Given the description of an element on the screen output the (x, y) to click on. 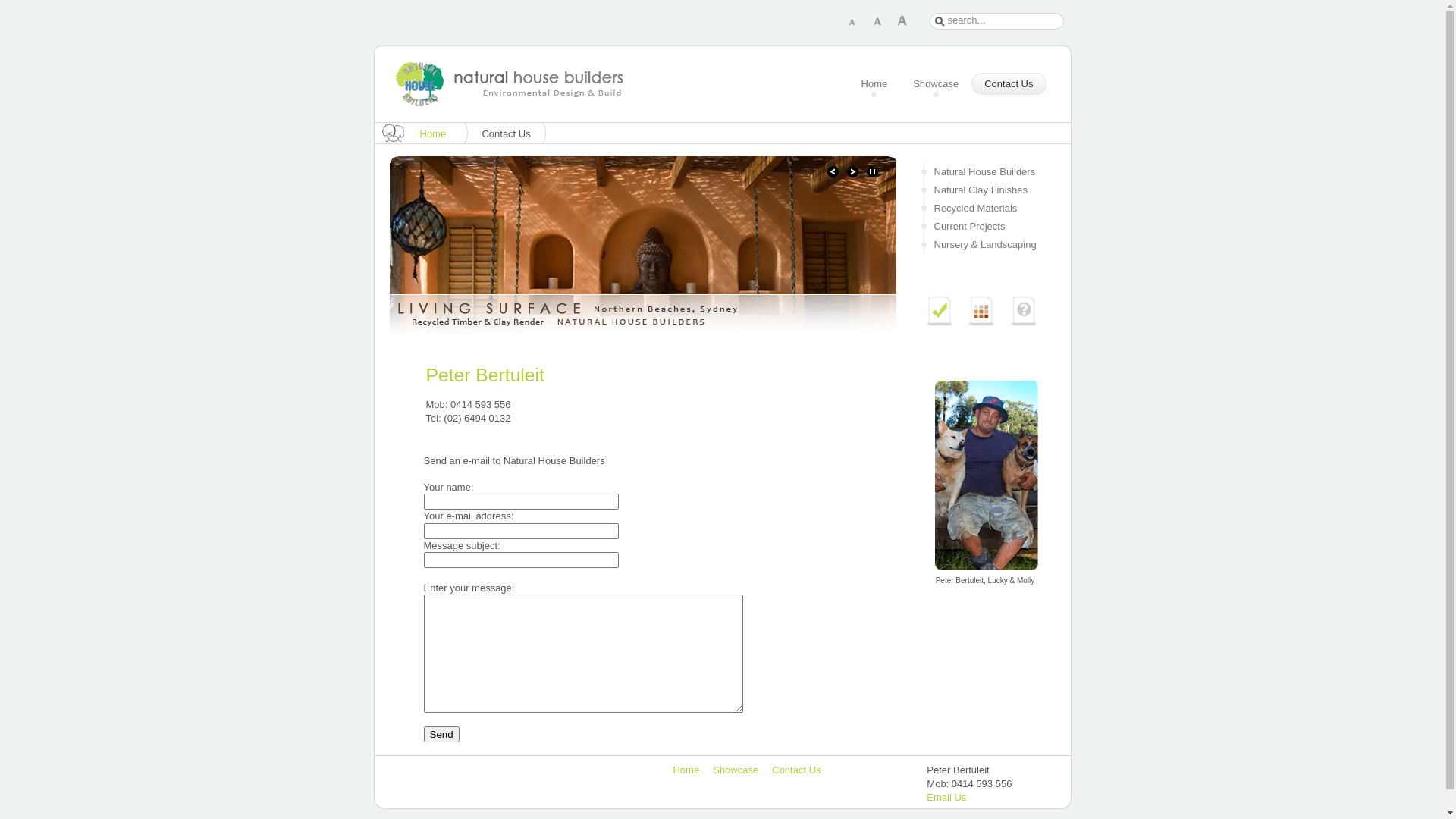
Contact Us Element type: text (1008, 84)
Showcase Element type: text (735, 769)
We Love To Help! Element type: hover (1023, 310)
Home Element type: text (874, 84)
Recycled Materials Element type: text (984, 208)
Nursery & Landscaping Element type: text (984, 244)
Send Element type: text (440, 734)
Natural Clay Finishes In Endless Colours Element type: hover (981, 310)
Natural Clay Finishes Element type: text (984, 190)
Sustainable Building With Environmental Design Element type: hover (933, 322)
Home Element type: text (685, 769)
Natural House Builders Element type: text (984, 172)
Natural Clay Finishes In Endless Colours Element type: hover (976, 322)
Home Element type: text (440, 133)
Showcase Element type: text (935, 84)
Email Us Element type: text (946, 797)
We Love To Help! Element type: hover (1018, 322)
Building Green With Environmental Design Element type: hover (938, 310)
Contact Us Element type: text (795, 769)
Current Projects Element type: text (984, 226)
